Given the description of an element on the screen output the (x, y) to click on. 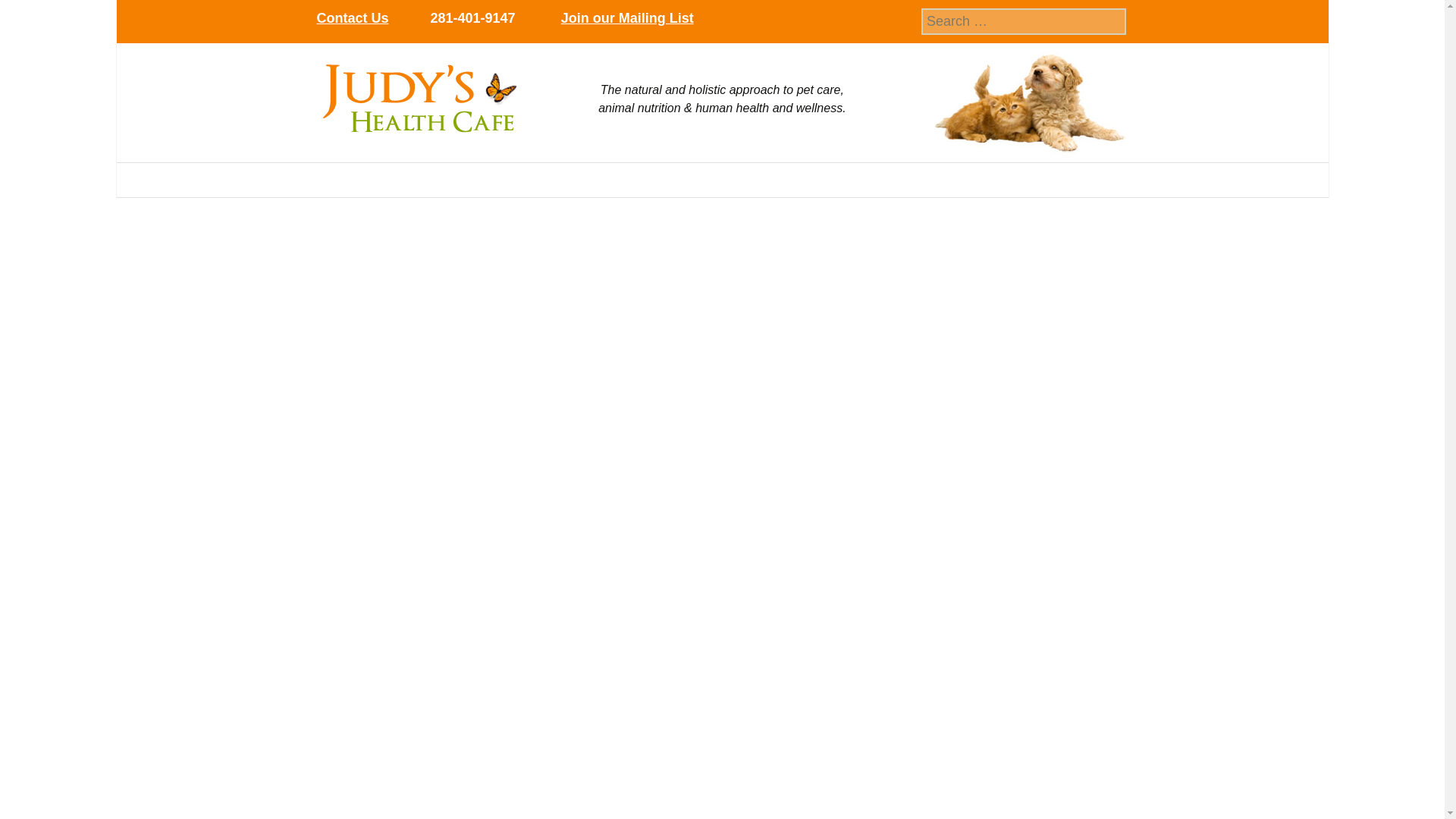
Contact Us (352, 17)
Search (40, 17)
Join our Mailing List (627, 17)
